Given the description of an element on the screen output the (x, y) to click on. 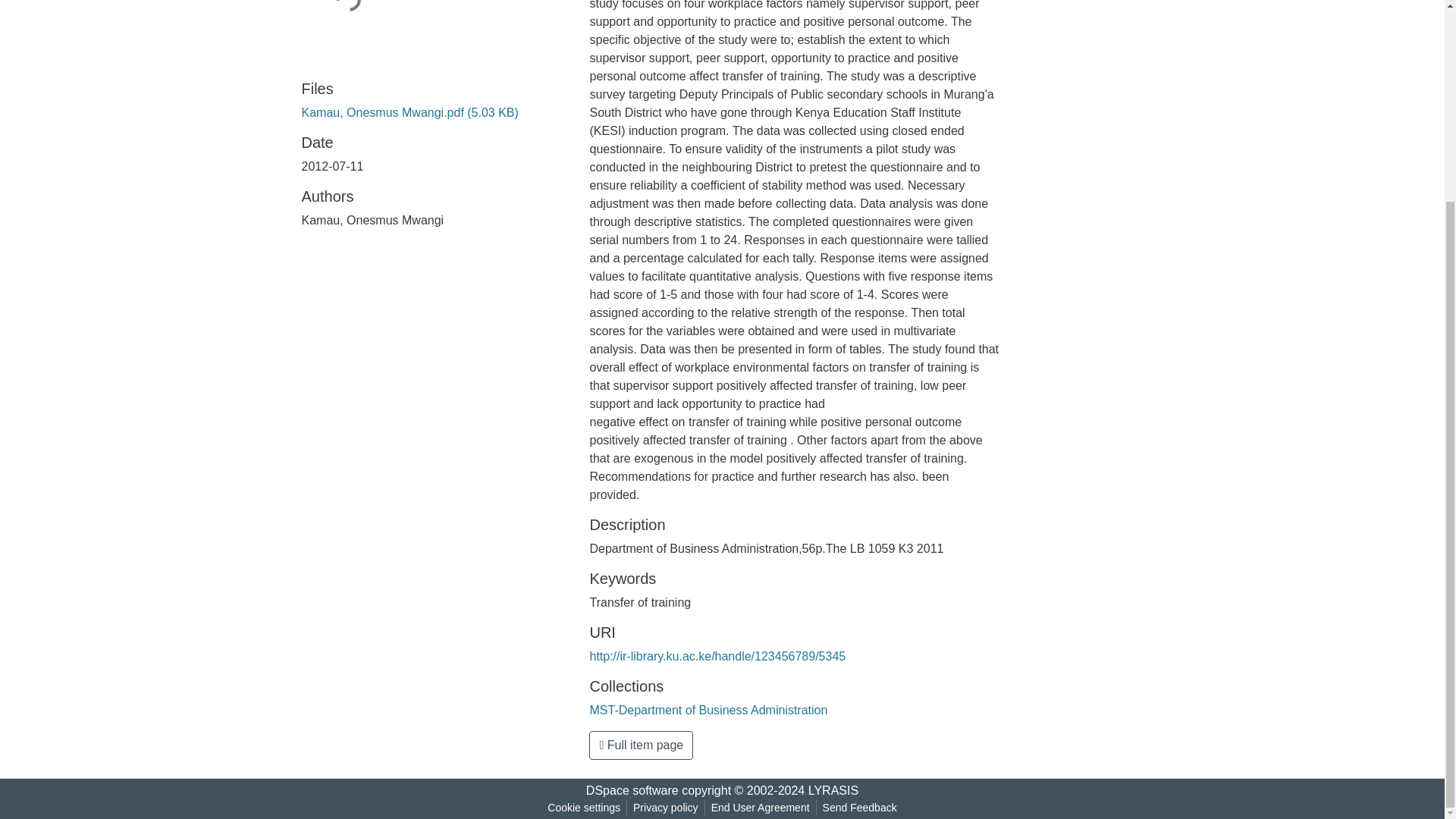
Privacy policy (665, 807)
LYRASIS (833, 789)
MST-Department of Business Administration (708, 709)
End User Agreement (759, 807)
Cookie settings (583, 807)
DSpace software (632, 789)
Full item page (641, 745)
Send Feedback (859, 807)
